Given the description of an element on the screen output the (x, y) to click on. 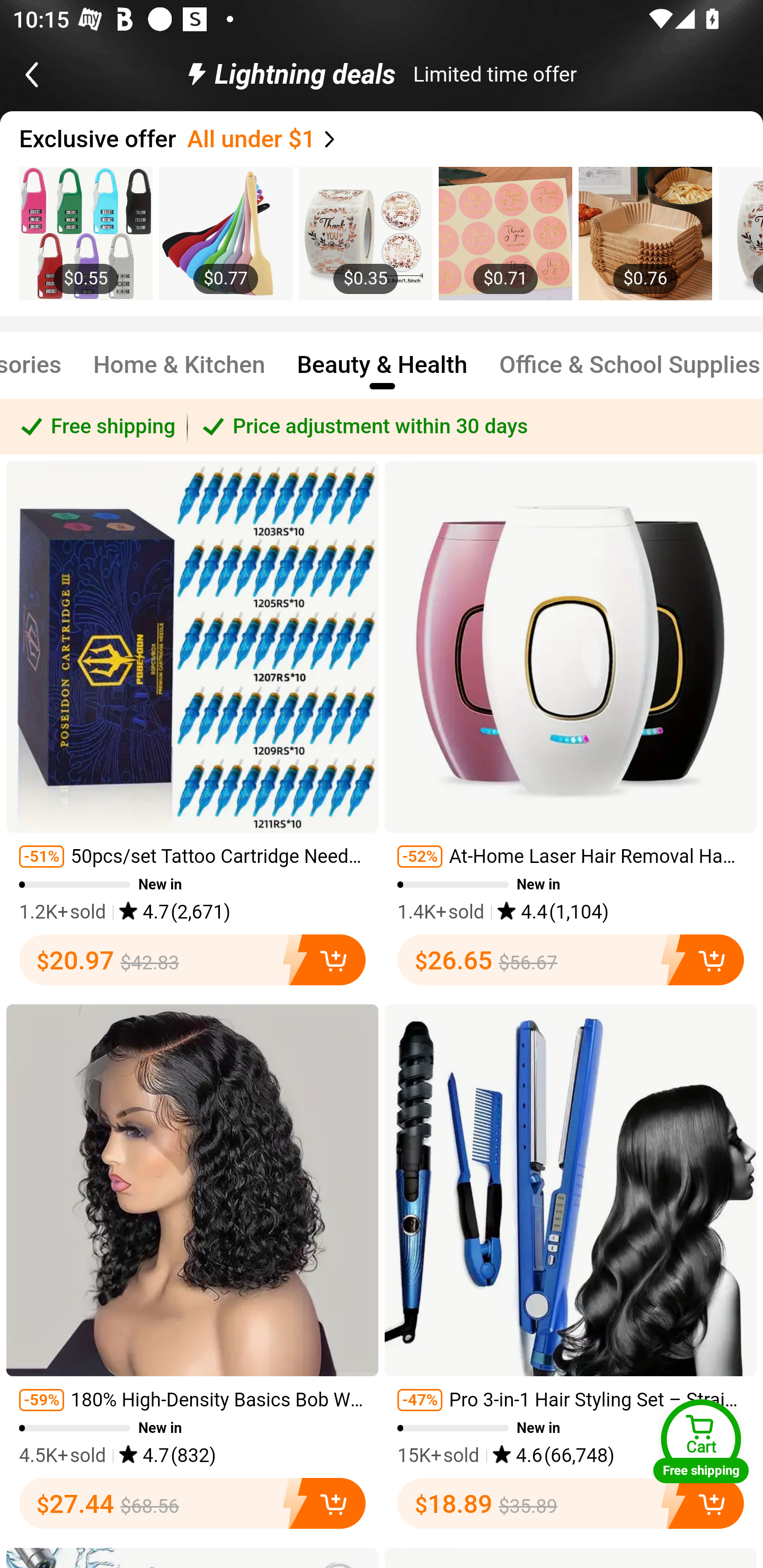
Back (50, 74)
Exclusive offer All under $1 (391, 138)
Home & Kitchen (178, 373)
Beauty & Health (382, 373)
Office & School Supplies (630, 373)
Free shipping (94, 426)
Price adjustment within 30 days (475, 426)
$20.97 $42.83 (192, 959)
$26.65 $56.67 (570, 959)
Cart Free shipping Cart (701, 1440)
$27.44 $68.56 (192, 1503)
$18.89 $35.89 (570, 1503)
